Given the description of an element on the screen output the (x, y) to click on. 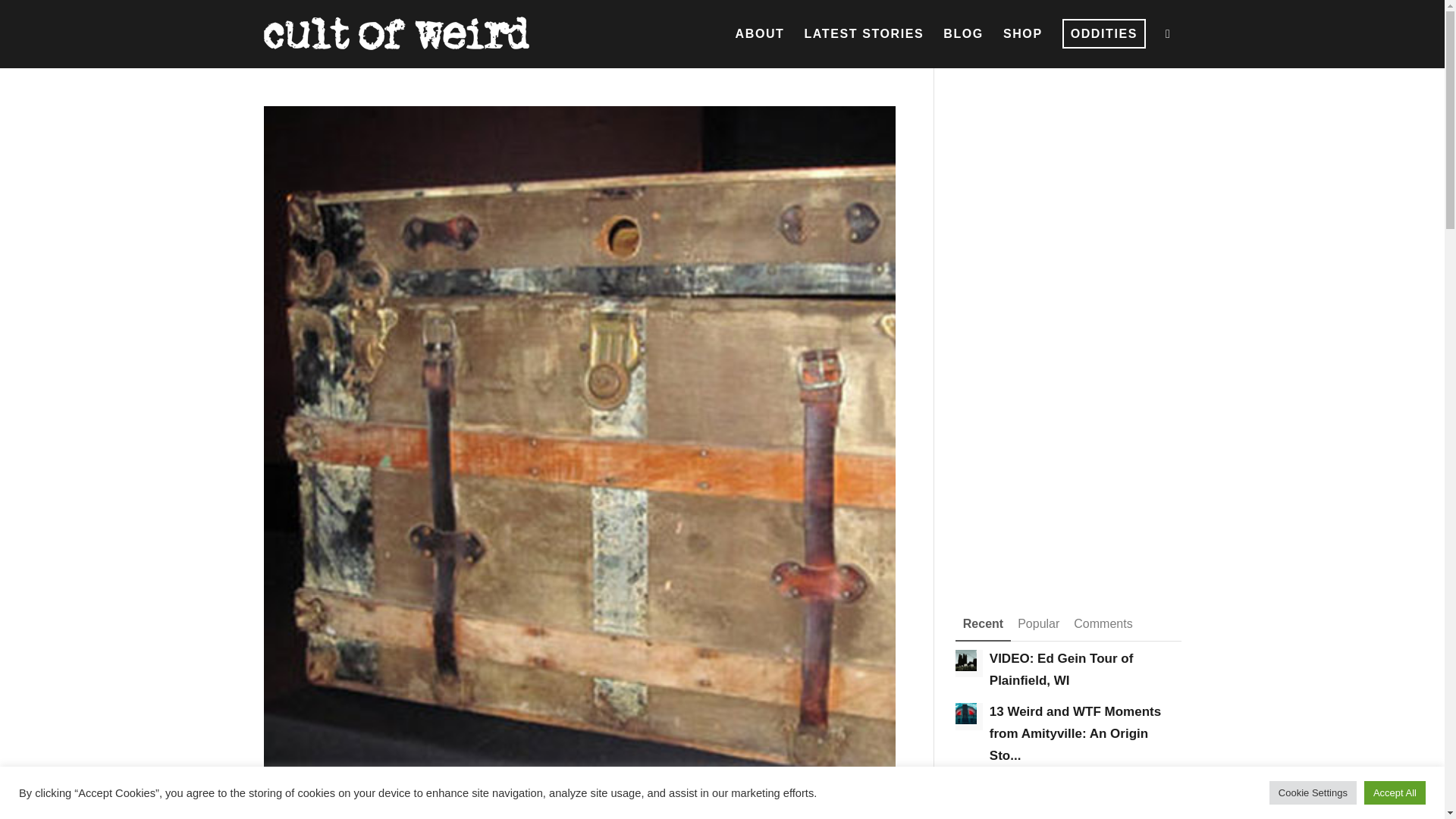
ODDITIES (1104, 33)
13 Weird and WTF Moments from Amityville: An Origin Sto... (1075, 733)
Cult of Weird (396, 33)
ABOUT (759, 33)
VIDEO: Ed Gein Tour of Plainfield, WI (1062, 669)
Cult of Weird (396, 28)
LATEST STORIES (863, 33)
